Given the description of an element on the screen output the (x, y) to click on. 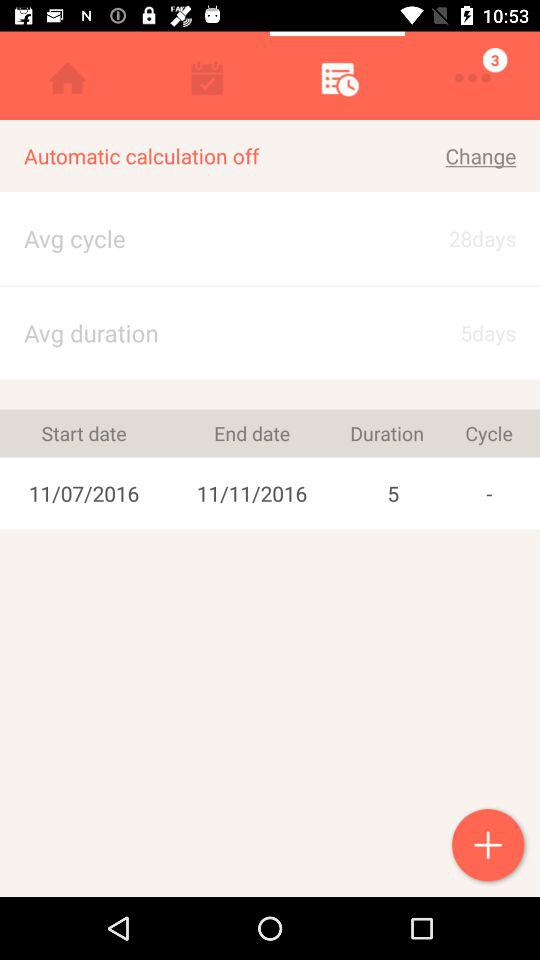
new calculation box (490, 847)
